Given the description of an element on the screen output the (x, y) to click on. 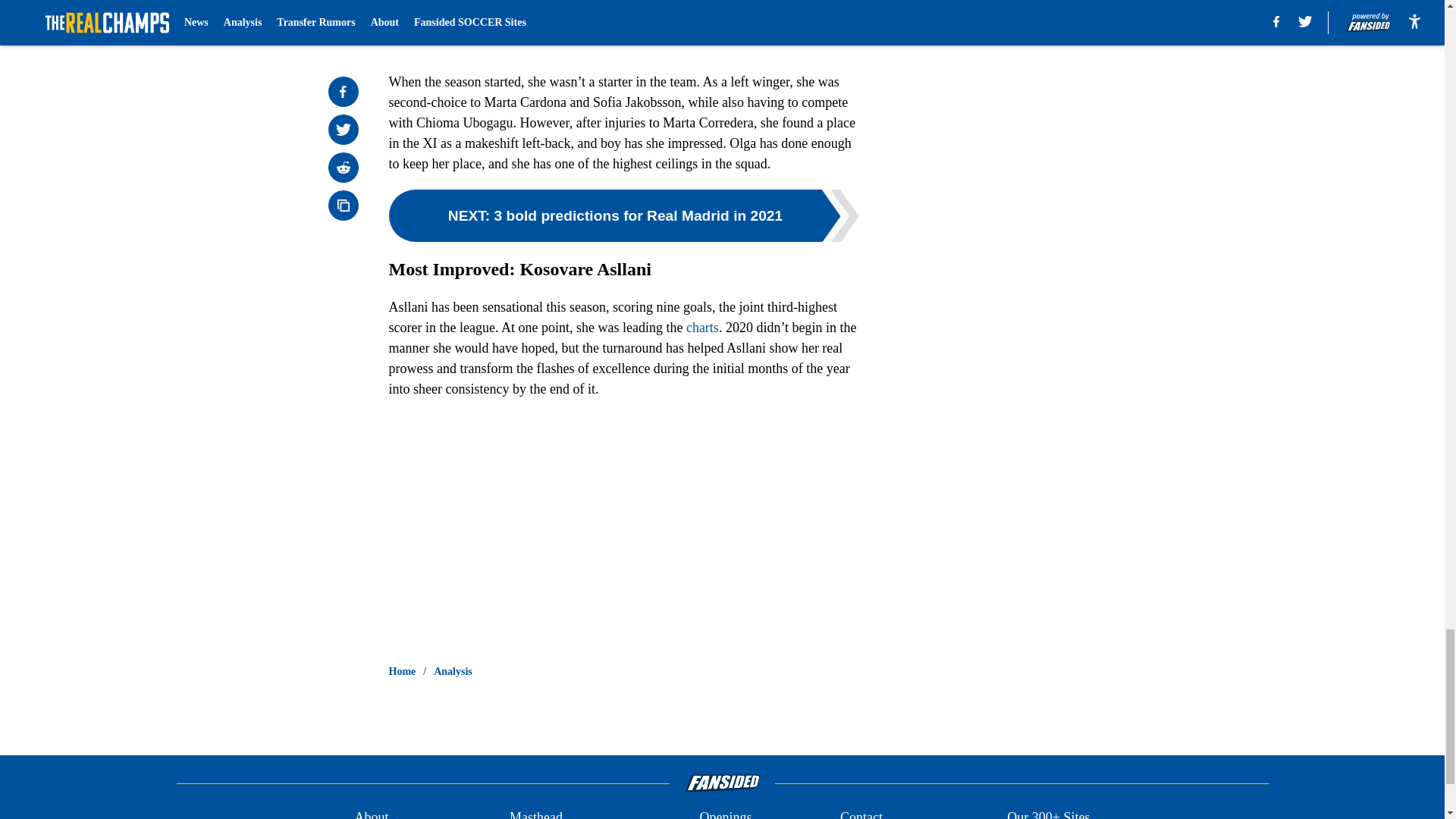
Analysis (452, 671)
Masthead (535, 813)
Openings (724, 813)
Contact (861, 813)
About (370, 813)
Home (401, 671)
charts (702, 327)
NEXT: 3 bold predictions for Real Madrid in 2021 (623, 215)
